Given the description of an element on the screen output the (x, y) to click on. 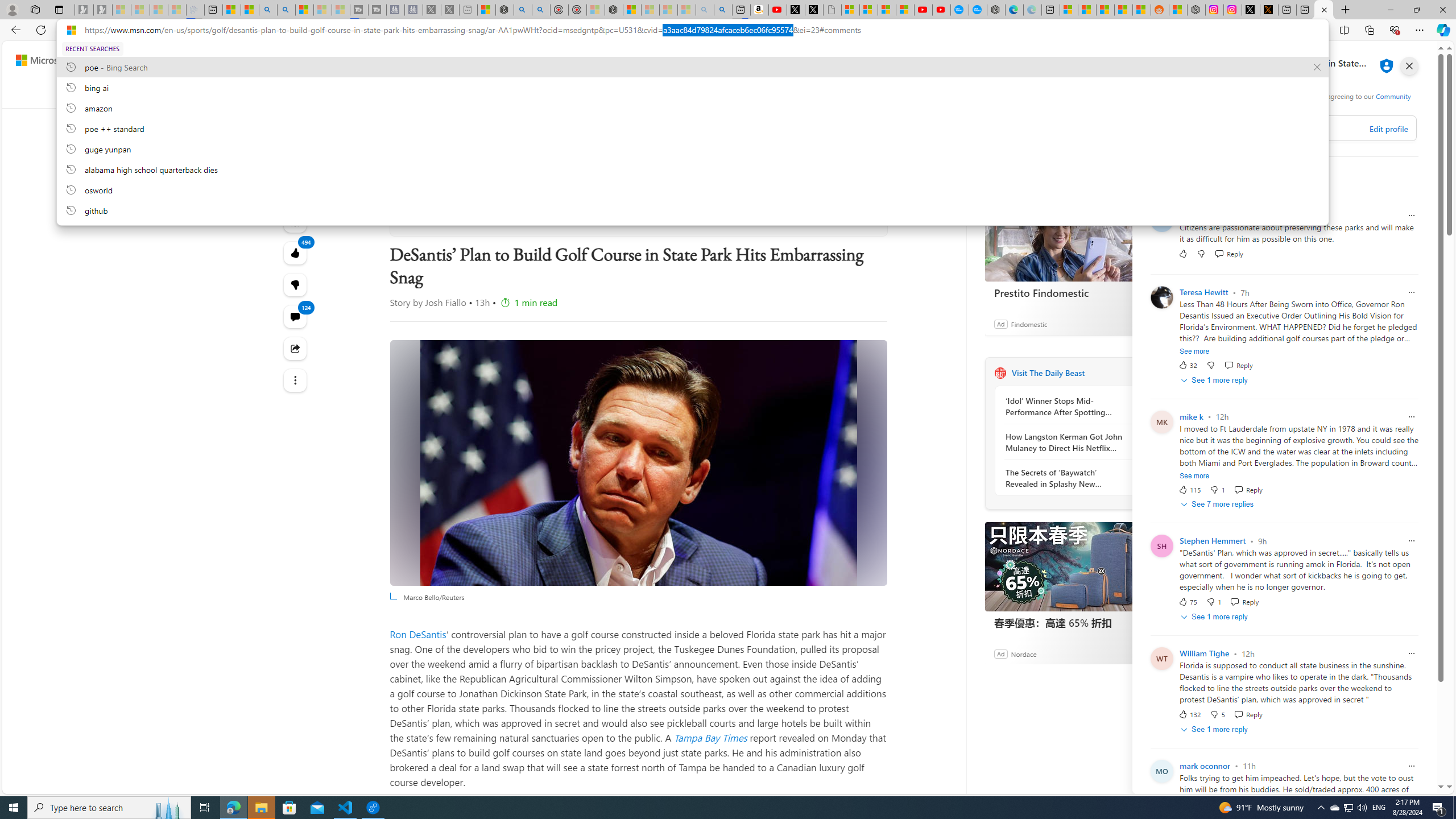
Day 1: Arriving in Yemen (surreal to be here) - YouTube (778, 9)
Sports (417, 92)
comment-box (1298, 127)
Privacy & Cookies (1276, 104)
mark oconnor (1204, 765)
YouTube Kids - An App Created for Kids to Explore Content (941, 9)
Golf (629, 92)
Reply Reply Comment (1247, 714)
NCAA BK (965, 92)
494 Like (295, 252)
Remove suggestion (1316, 66)
